Given the description of an element on the screen output the (x, y) to click on. 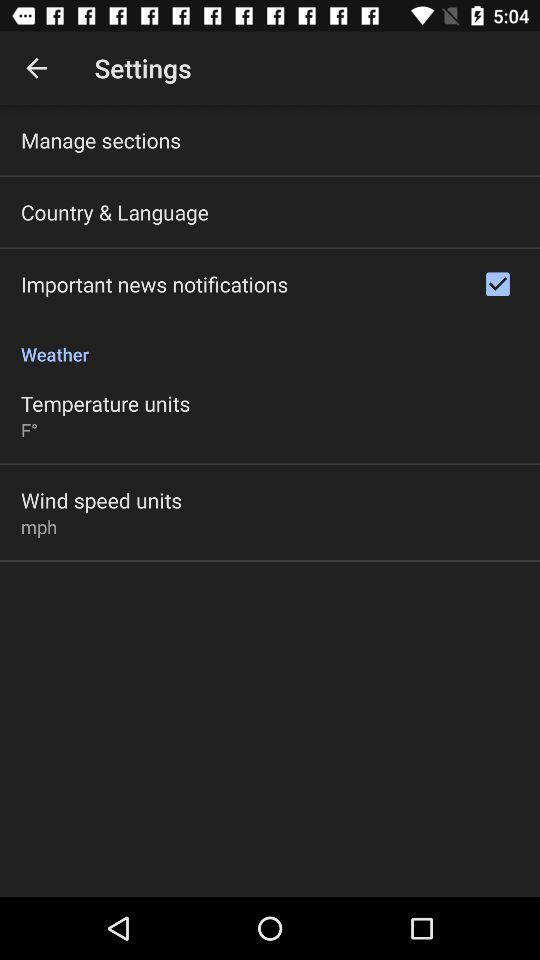
turn off the item to the right of important news notifications (497, 284)
